Given the description of an element on the screen output the (x, y) to click on. 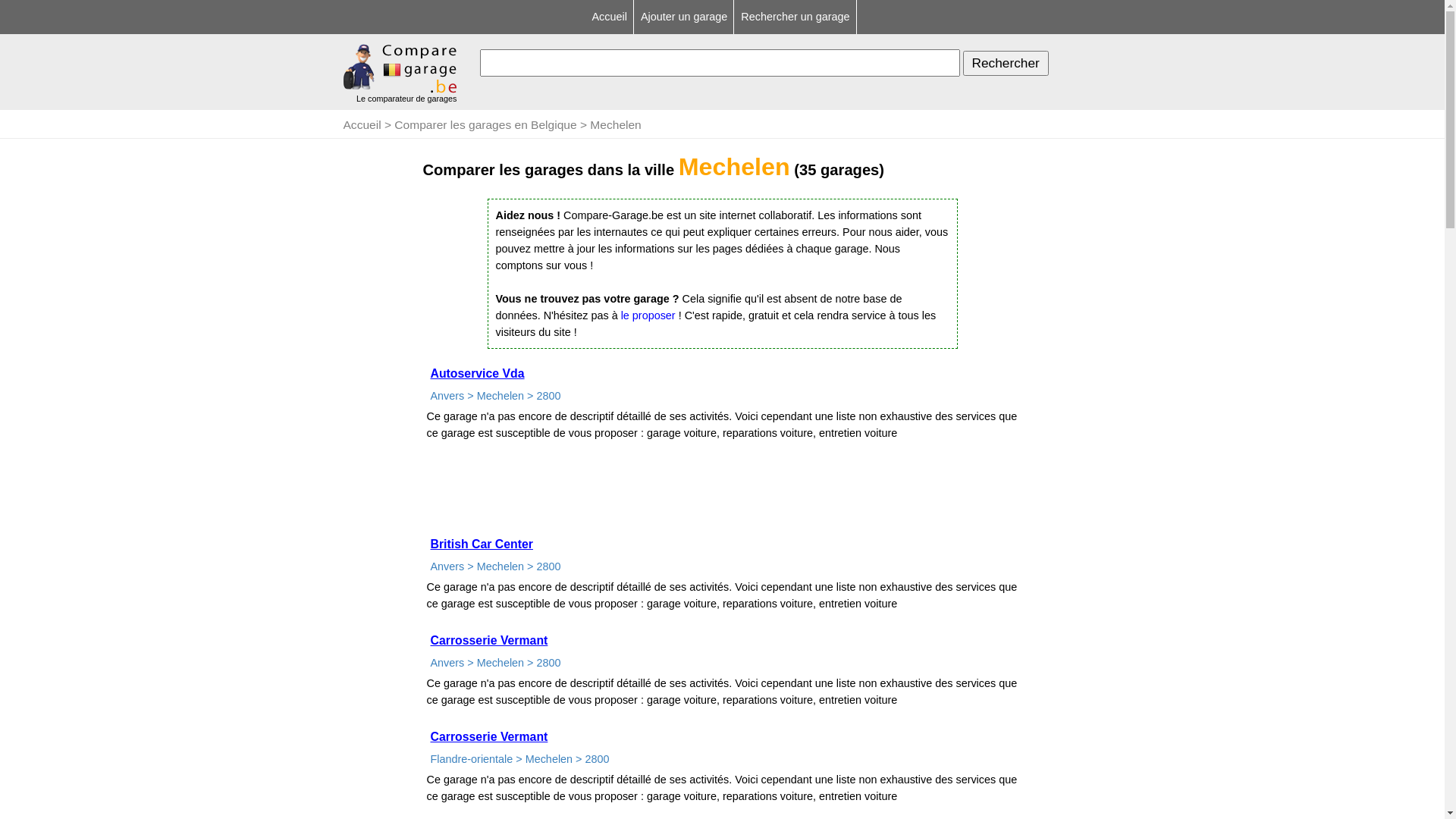
Advertisement Element type: hover (721, 490)
Carrosserie Vermant Element type: text (488, 736)
Accueil Element type: text (361, 124)
Comparer les garages en Belgique Element type: text (485, 124)
Autoservice Vda Element type: text (476, 373)
Accueil Element type: text (610, 17)
British Car Center Element type: text (481, 543)
Ajouter un garage Element type: text (685, 17)
Rechercher Element type: text (1005, 62)
Advertisement Element type: hover (755, 88)
Carrosserie Vermant Element type: text (488, 640)
le proposer Element type: text (648, 315)
Rechercher un garage Element type: text (796, 17)
